Given the description of an element on the screen output the (x, y) to click on. 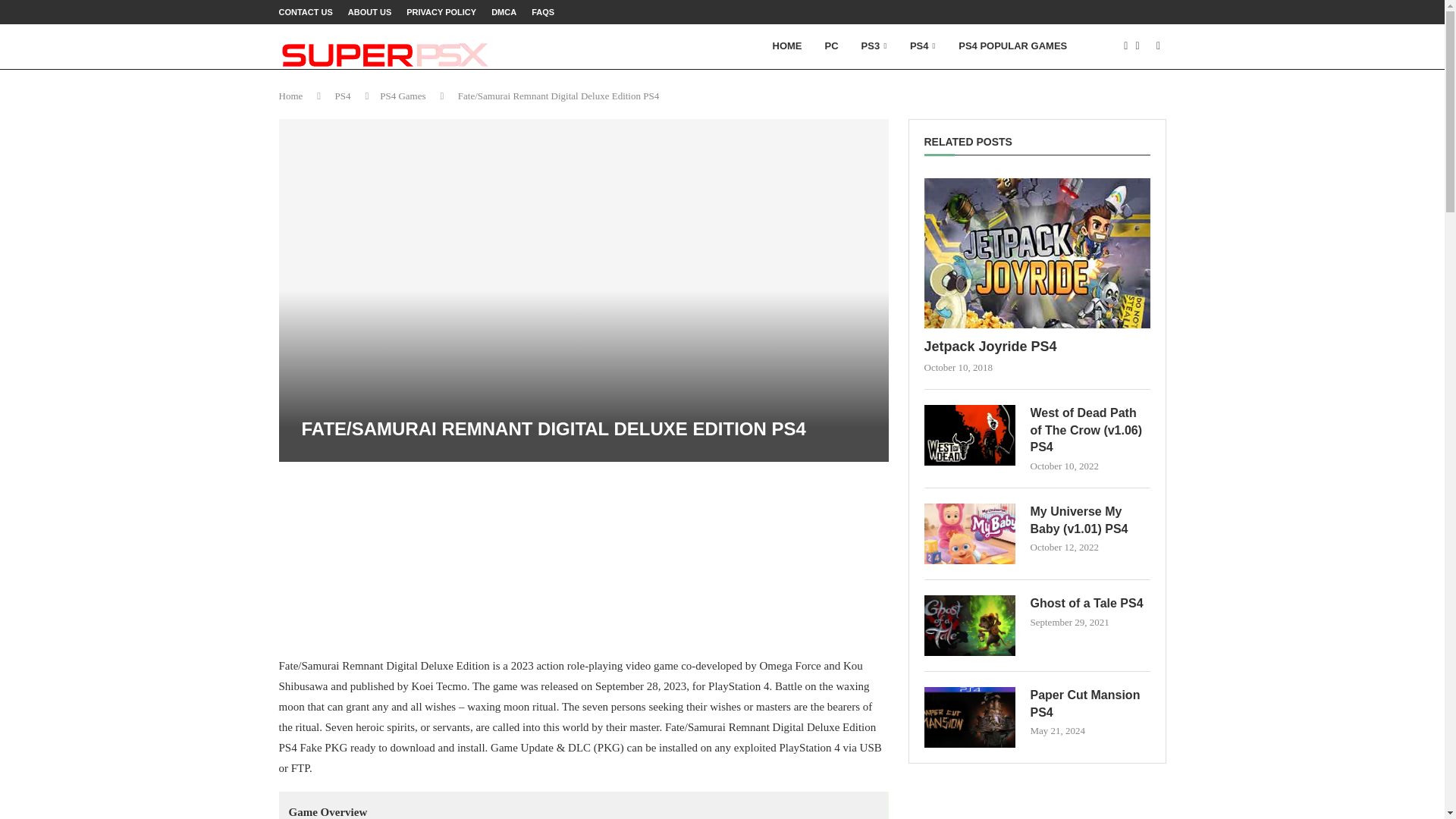
Home (290, 95)
Paper Cut Mansion PS4 (968, 717)
Jetpack Joyride PS4 (1036, 346)
PS4 Games (402, 95)
Ghost of a Tale PS4 (968, 625)
PS3 (874, 46)
PS4 (342, 95)
PRIVACY POLICY (441, 12)
HOME (787, 46)
PS4 POPULAR GAMES (1012, 46)
FAQS (542, 12)
CONTACT US (306, 12)
Ghost of a Tale PS4 (1089, 603)
Jetpack Joyride PS4 (1036, 253)
Advertisement (583, 557)
